Given the description of an element on the screen output the (x, y) to click on. 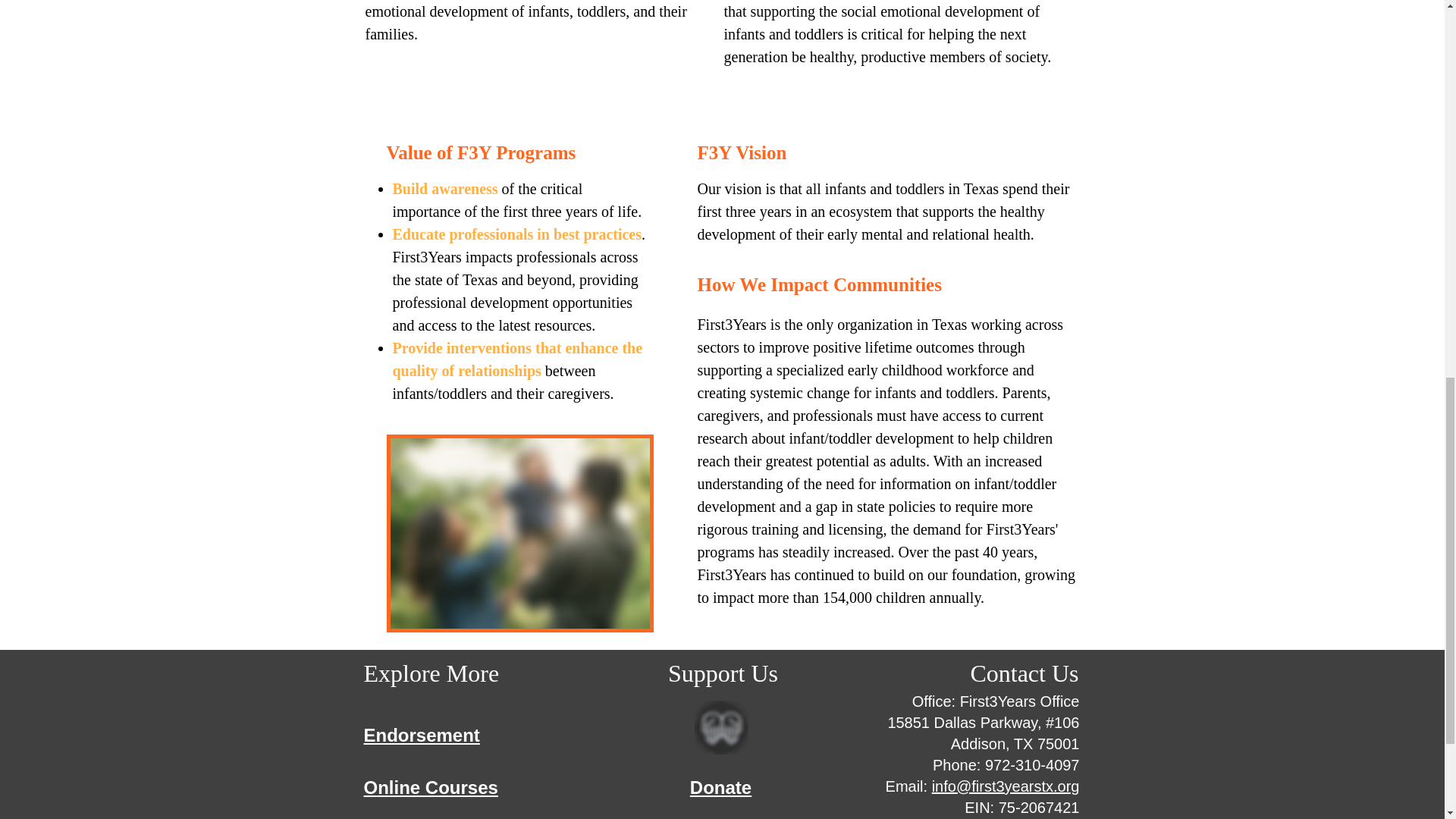
Donate (720, 787)
Endorsement (422, 735)
Online Courses (430, 787)
